Given the description of an element on the screen output the (x, y) to click on. 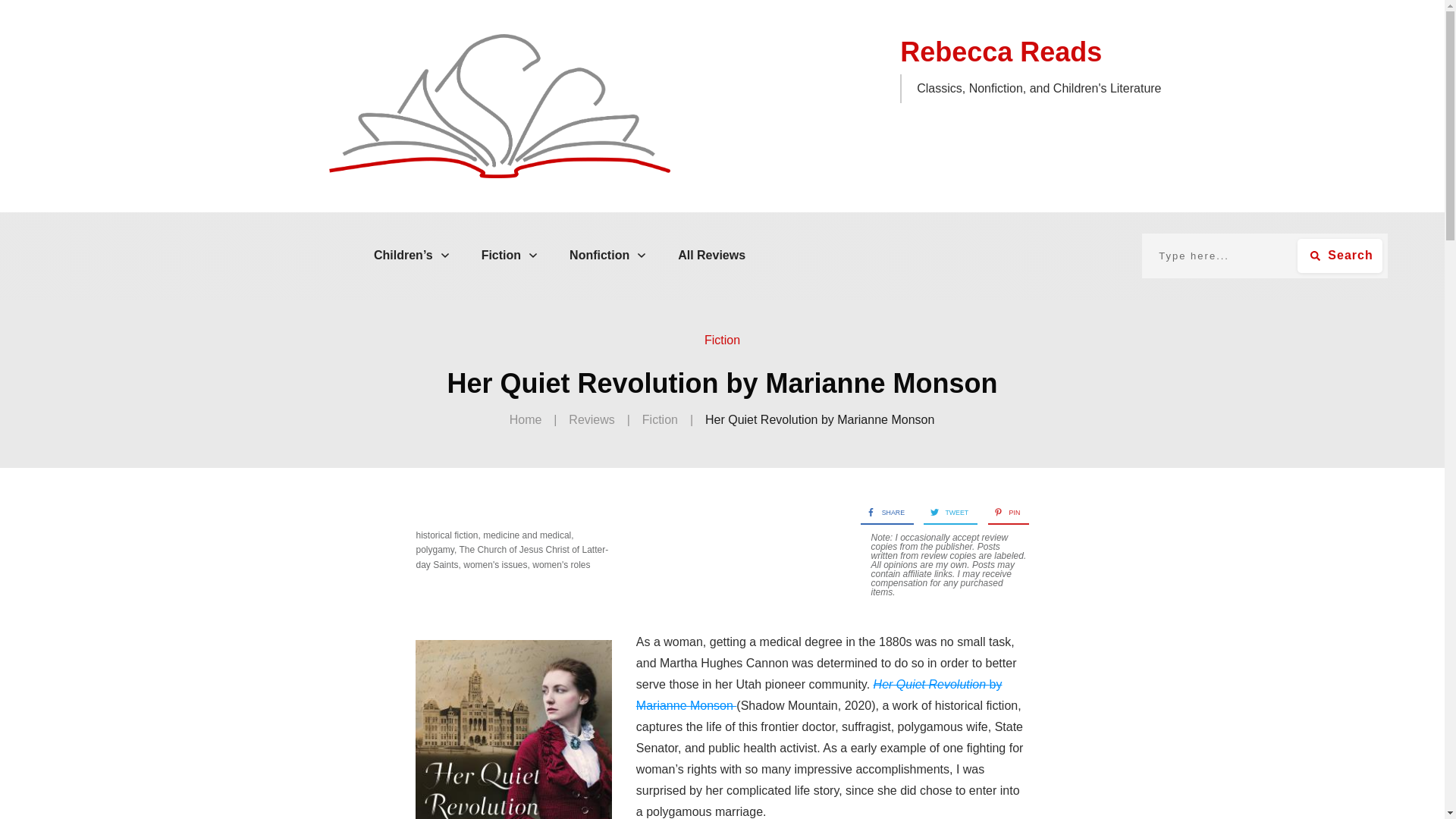
medicine and medical (526, 534)
historical fiction (445, 534)
women's roles (560, 564)
Fiction (509, 255)
SHARE (882, 512)
Fiction (721, 339)
polygamy (433, 549)
polygamy (433, 549)
women's issues (495, 564)
Fiction (721, 339)
All Reviews (711, 255)
historical fiction (445, 534)
Reviews (591, 420)
women's roles (560, 564)
women's issues (495, 564)
